Given the description of an element on the screen output the (x, y) to click on. 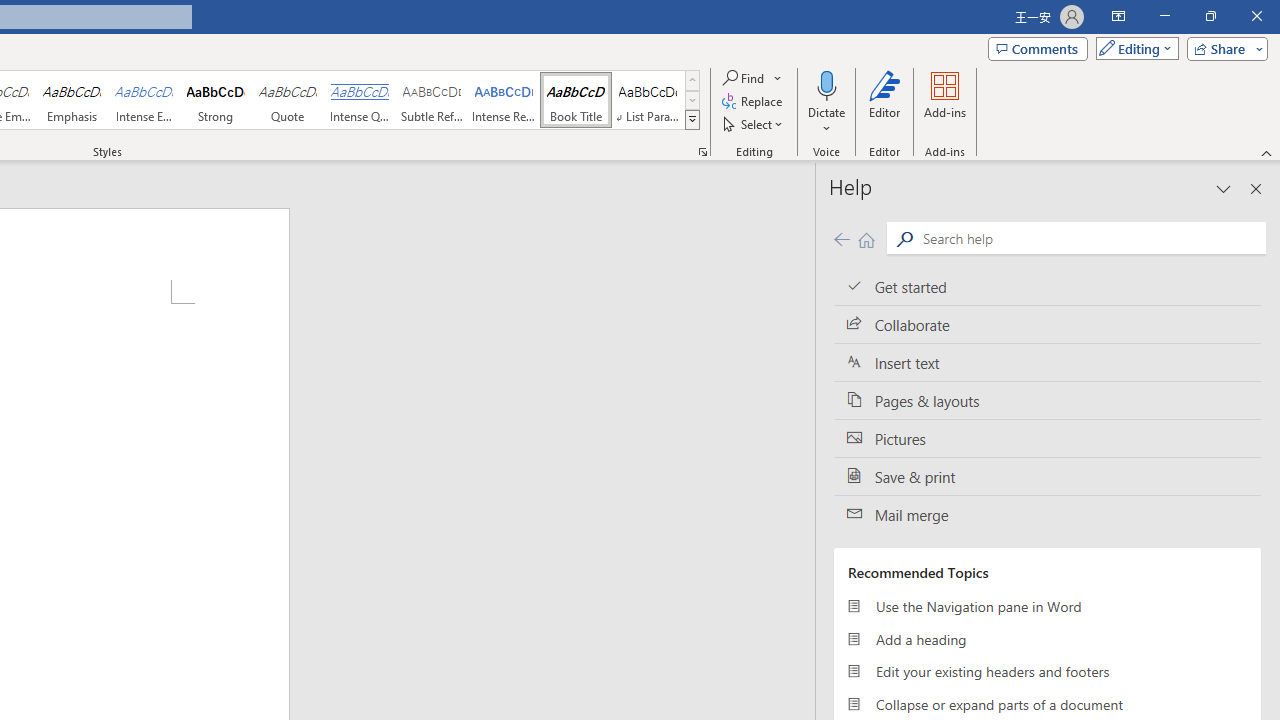
Subtle Reference (431, 100)
Pictures (1047, 438)
Collaborate (1047, 325)
Intense Reference (504, 100)
Add a heading (1047, 638)
Intense Emphasis (143, 100)
Edit your existing headers and footers (1047, 672)
Pages & layouts (1047, 400)
